Given the description of an element on the screen output the (x, y) to click on. 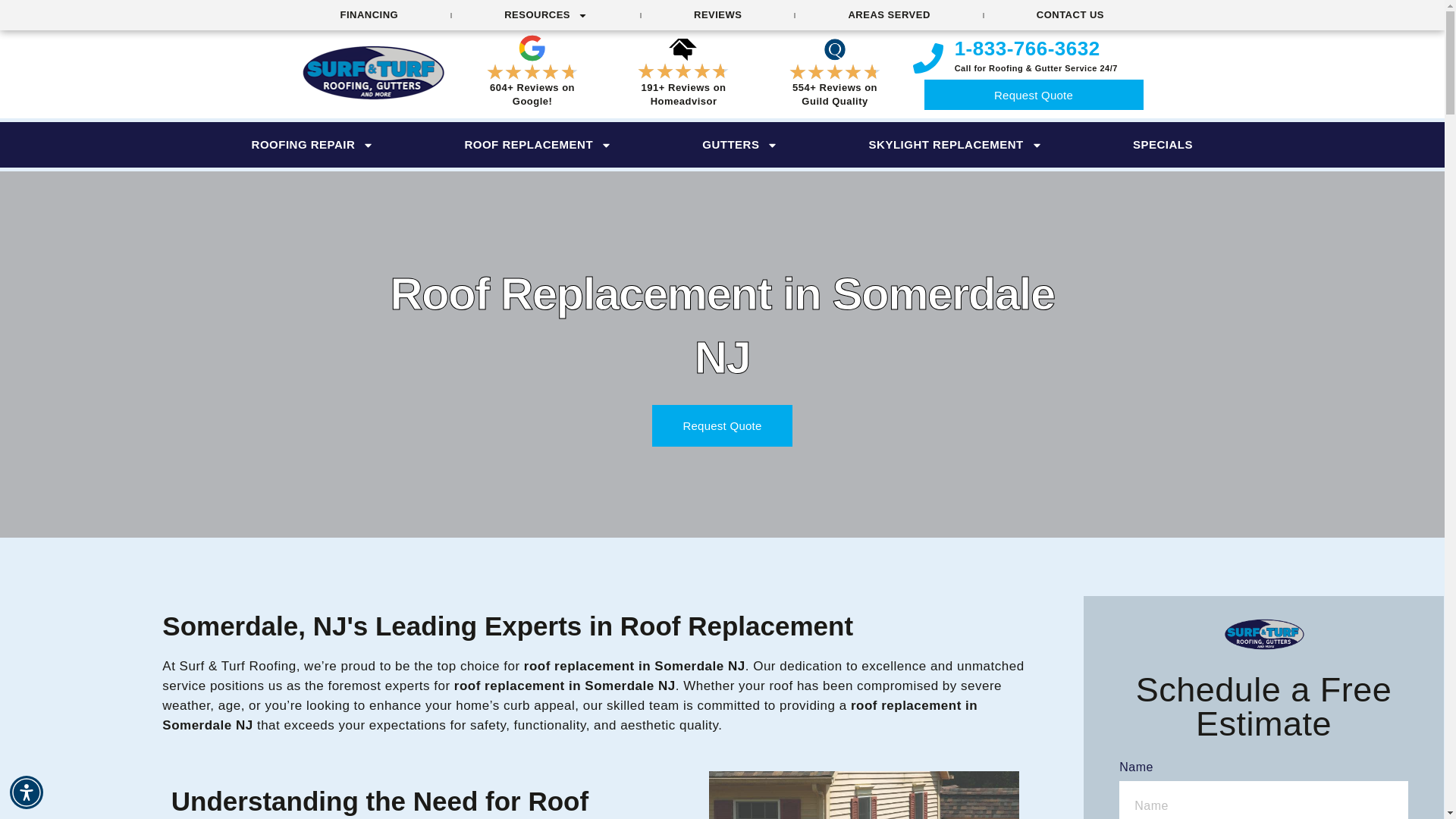
Request Quote (1033, 95)
1-833-766-3632 (1027, 47)
ROOFING REPAIR (312, 144)
CONTACT US (1070, 14)
REVIEWS (717, 14)
FINANCING (369, 14)
RESOURCES (545, 14)
Accessibility Menu (26, 792)
ROOF REPLACEMENT (538, 144)
AREAS SERVED (887, 14)
